Given the description of an element on the screen output the (x, y) to click on. 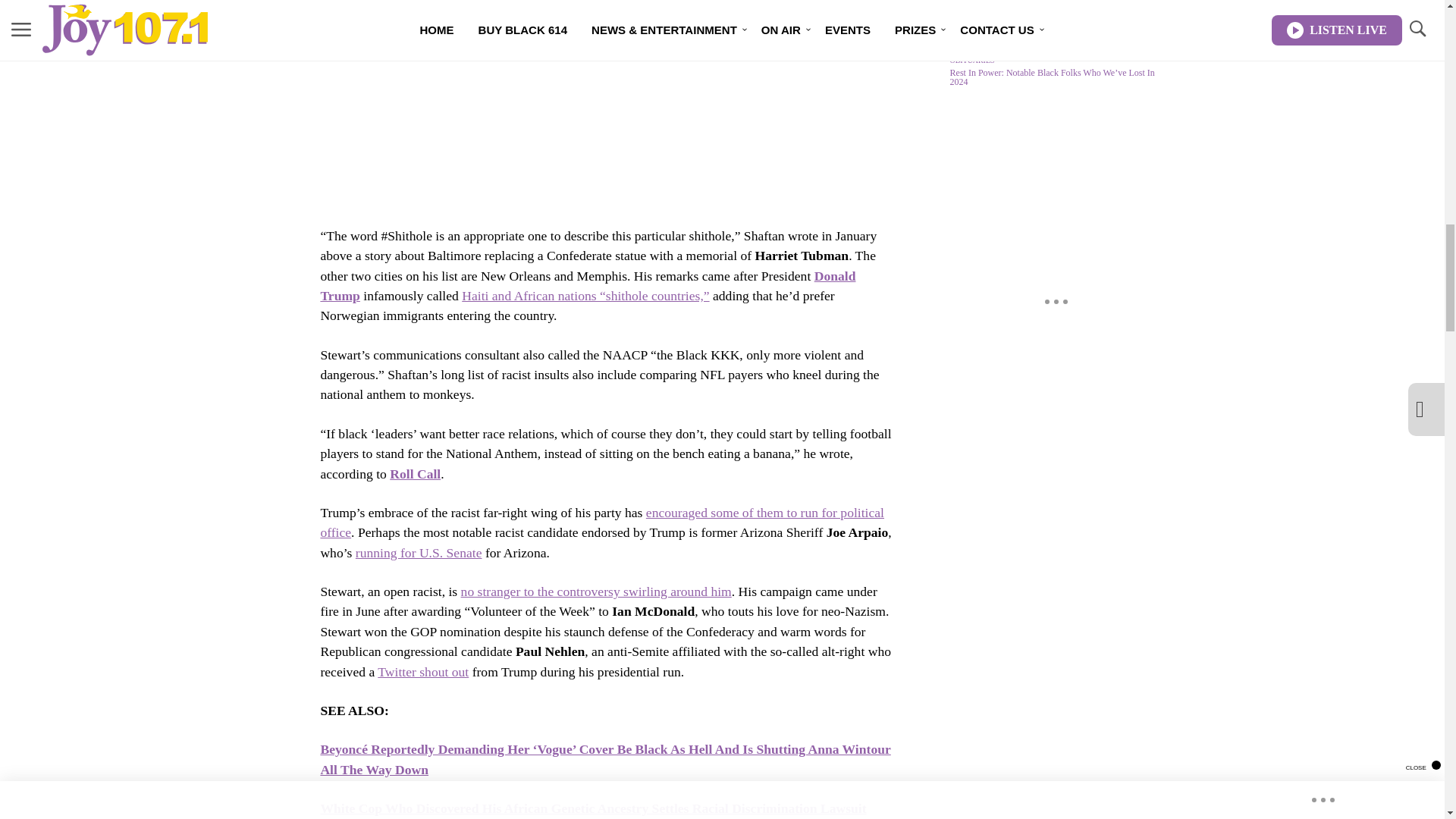
no stranger to the controversy swirling around him (596, 590)
encouraged some of them to run for political office (601, 522)
running for U.S. Senate (418, 552)
Media Playlist (990, 25)
Donald Trump (588, 285)
Roll Call (415, 473)
